Given the description of an element on the screen output the (x, y) to click on. 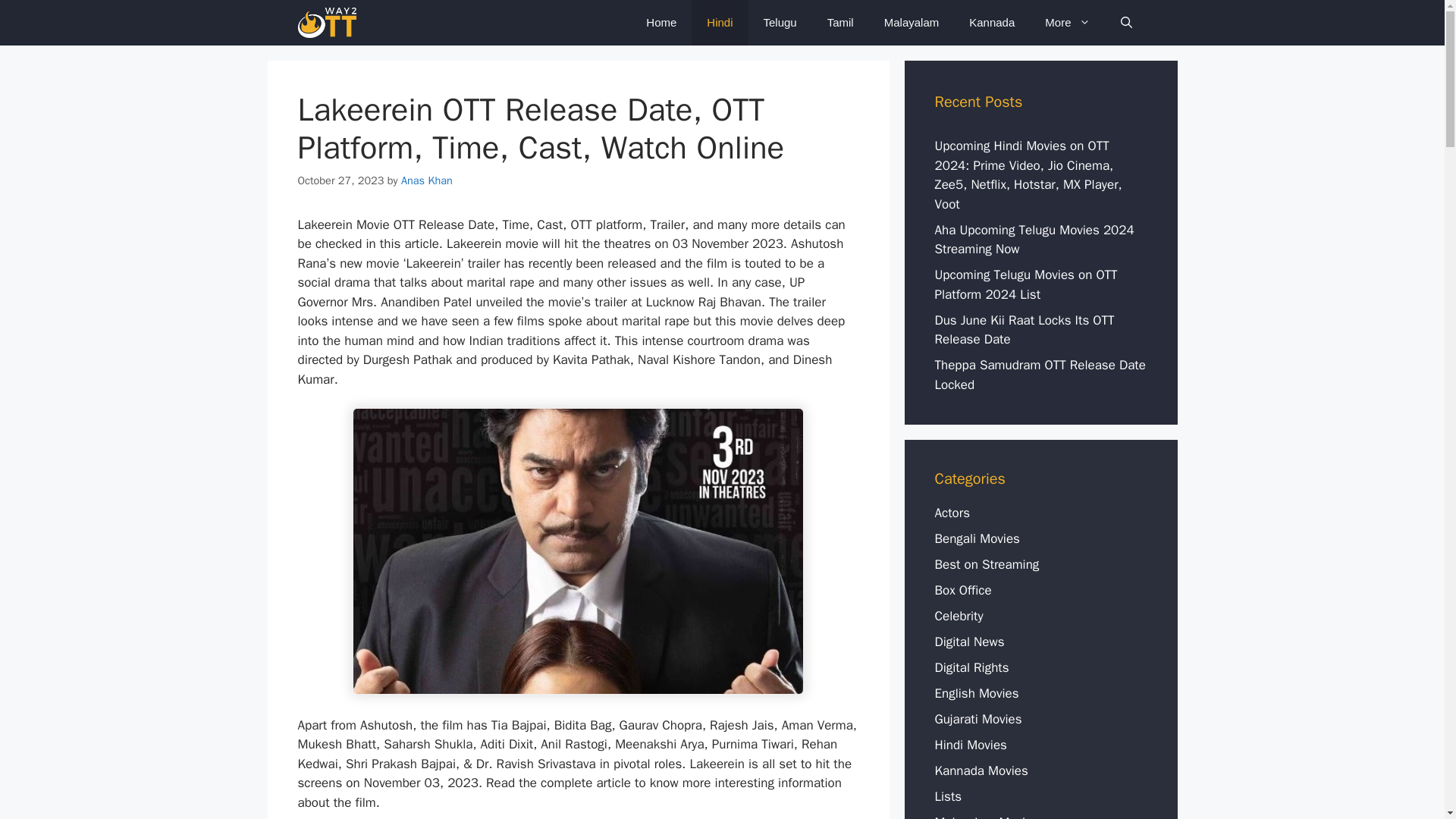
Home (660, 22)
Telugu (779, 22)
More (1067, 22)
Hindi (719, 22)
View all posts by Anas Khan (426, 180)
Kannada (991, 22)
Tamil (840, 22)
Malayalam (912, 22)
Way2OTT (326, 22)
Anas Khan (426, 180)
